Given the description of an element on the screen output the (x, y) to click on. 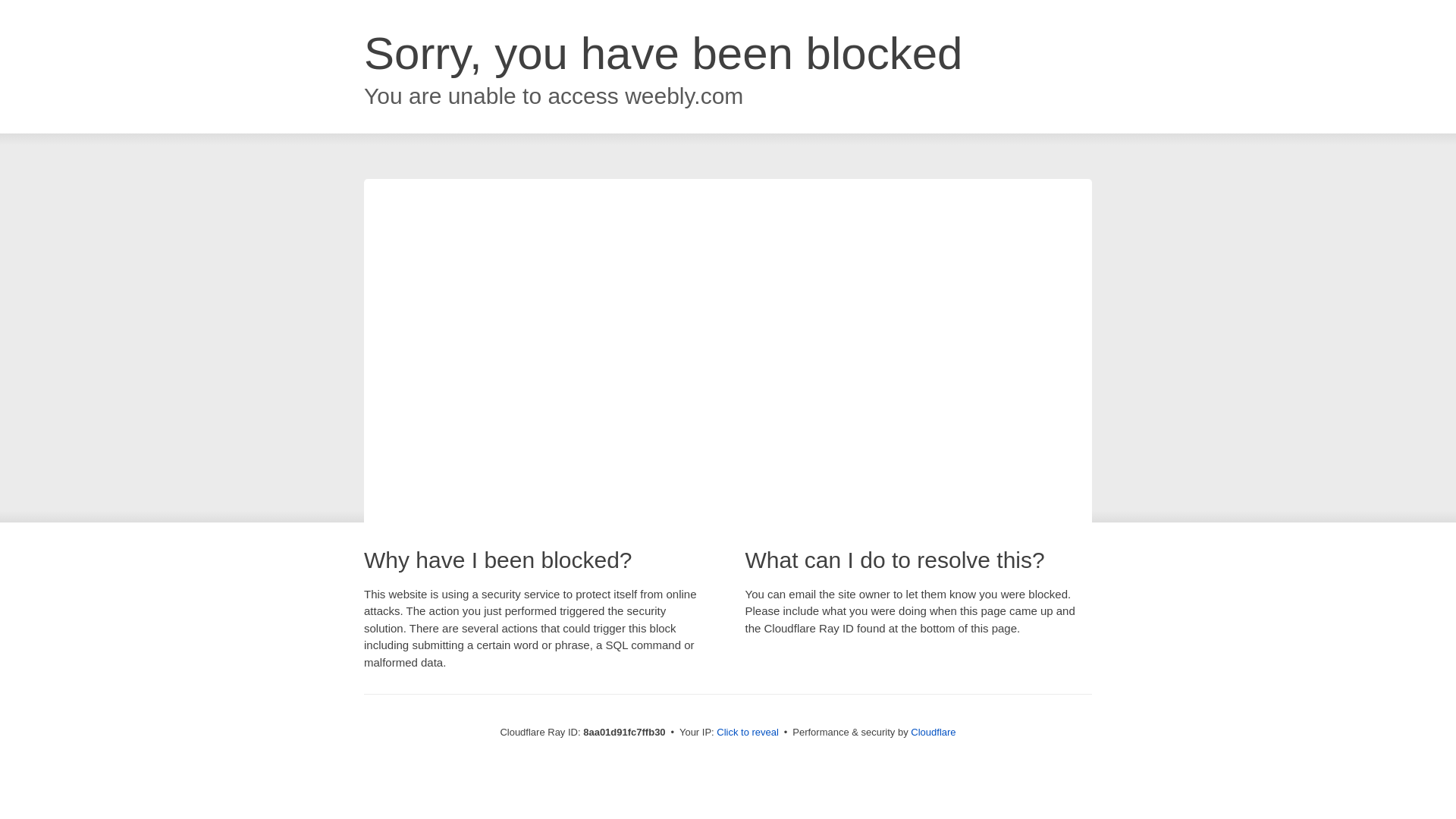
Click to reveal (747, 732)
Cloudflare (933, 731)
